Given the description of an element on the screen output the (x, y) to click on. 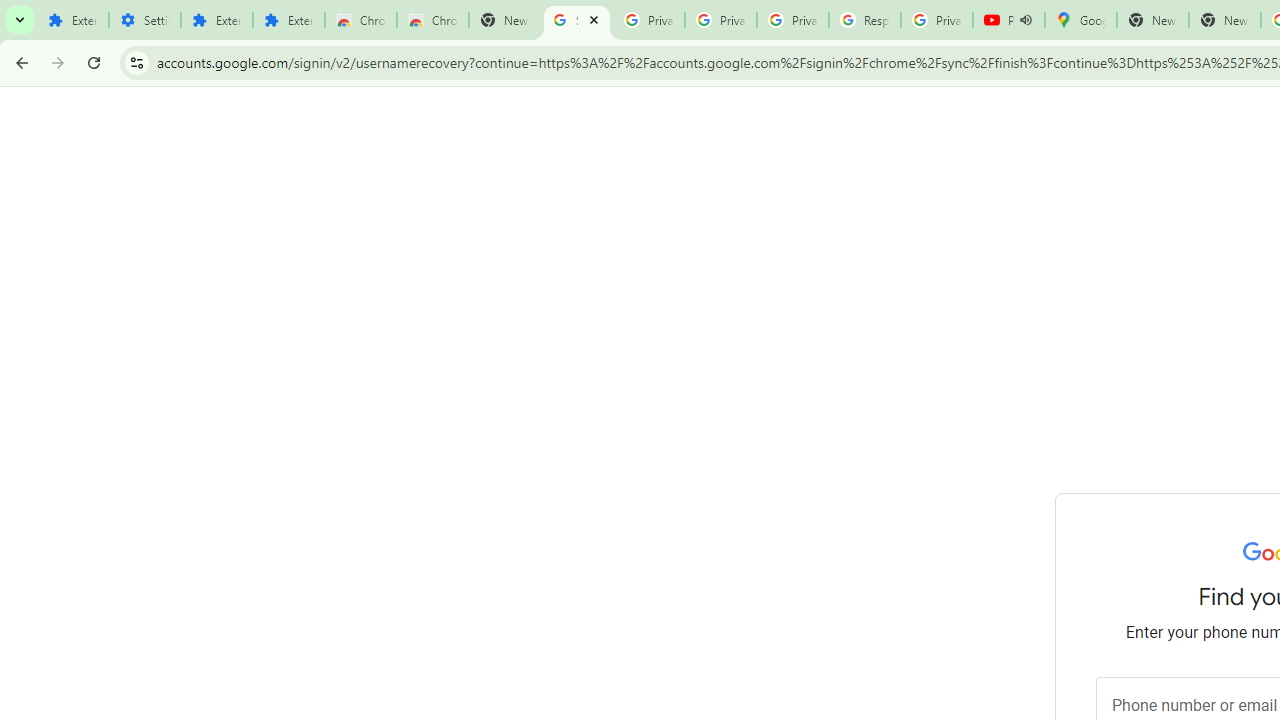
Mute tab (1025, 20)
Chrome Web Store - Themes (432, 20)
Extensions (216, 20)
Google Maps (1080, 20)
Sign in - Google Accounts (577, 20)
New Tab (504, 20)
Settings (144, 20)
